Given the description of an element on the screen output the (x, y) to click on. 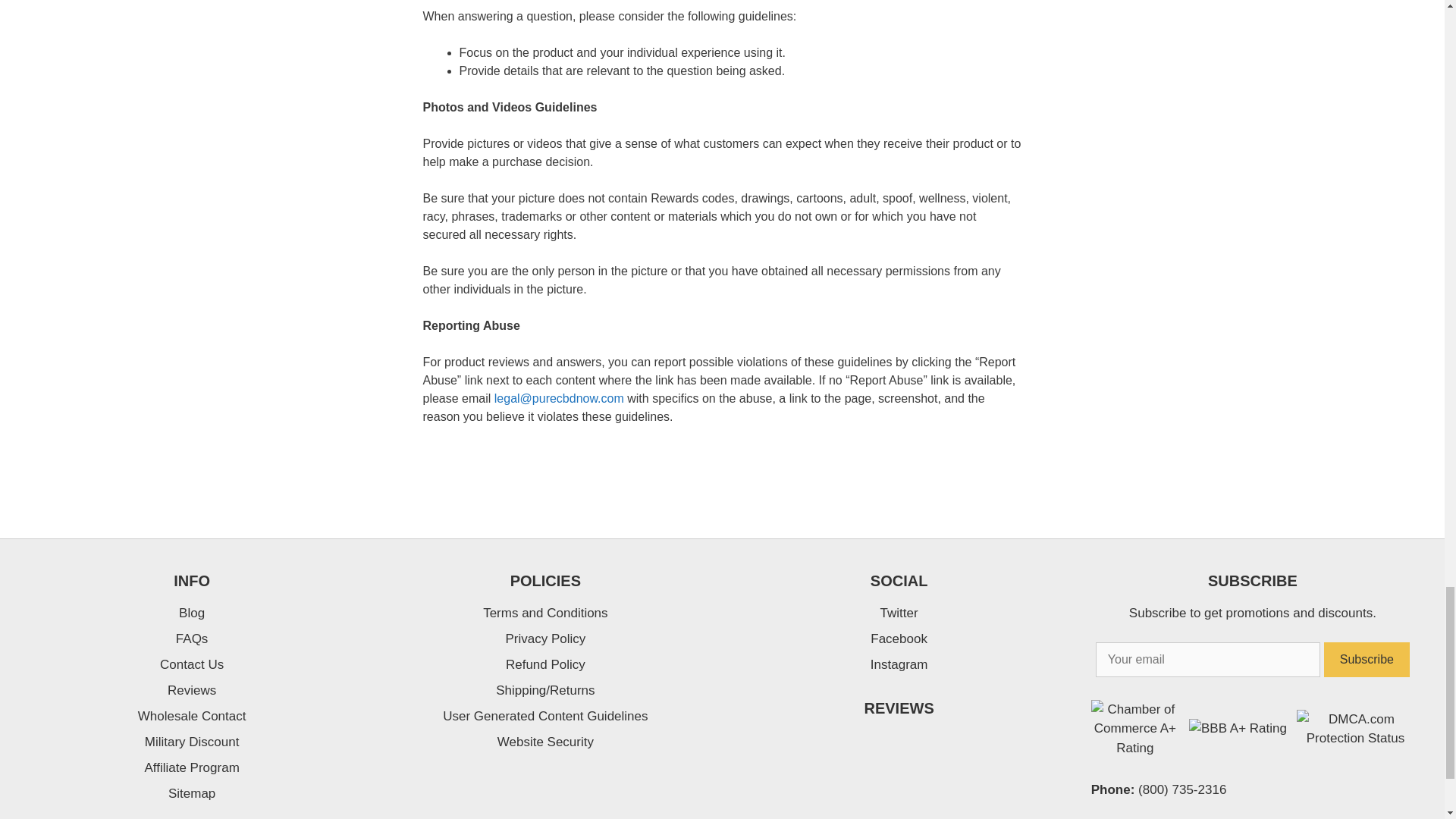
DMCA.com Protection Status (1355, 738)
